Given the description of an element on the screen output the (x, y) to click on. 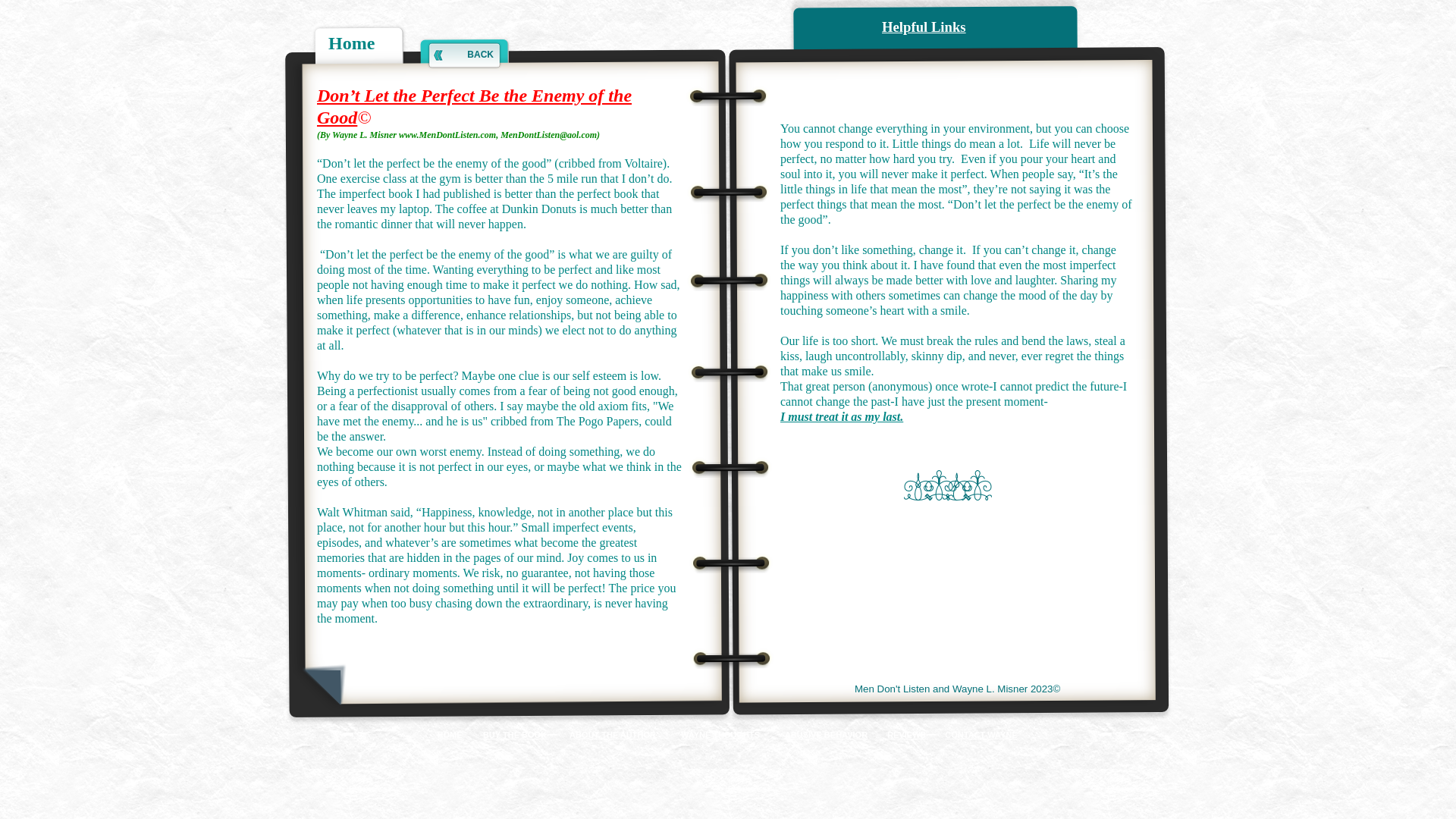
ABUSIVE BEHAVIOR (826, 735)
BUY THE BOOK (515, 735)
ABOUT THE AUTHOR (612, 735)
REVIEWS (906, 735)
CONTACT WAYNE (981, 735)
Helpful Links (924, 26)
WAYNE THOUGHTS (720, 735)
Home (351, 43)
BACK (464, 54)
HOME (449, 735)
